Given the description of an element on the screen output the (x, y) to click on. 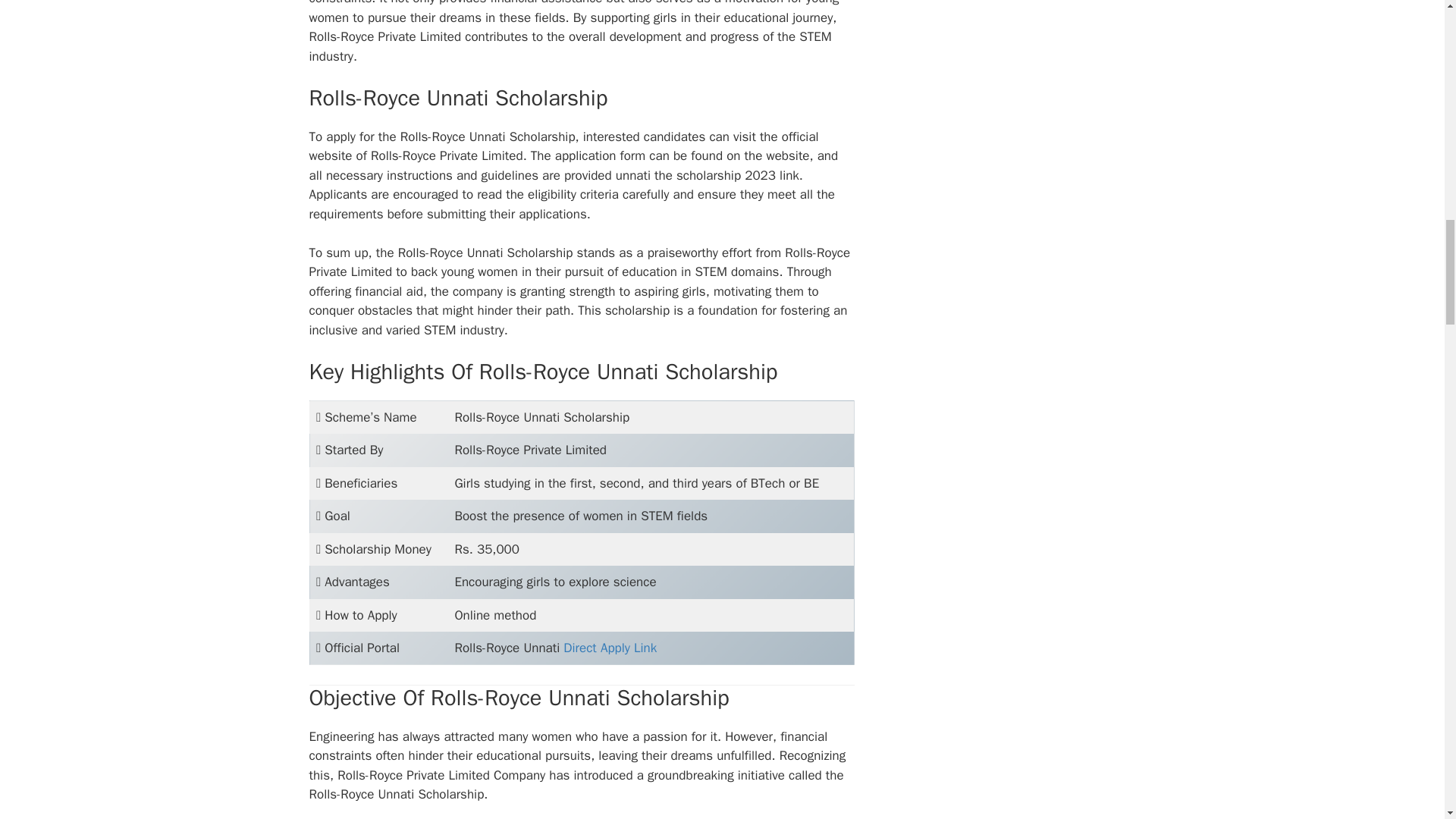
Direct Apply Link (609, 647)
